Given the description of an element on the screen output the (x, y) to click on. 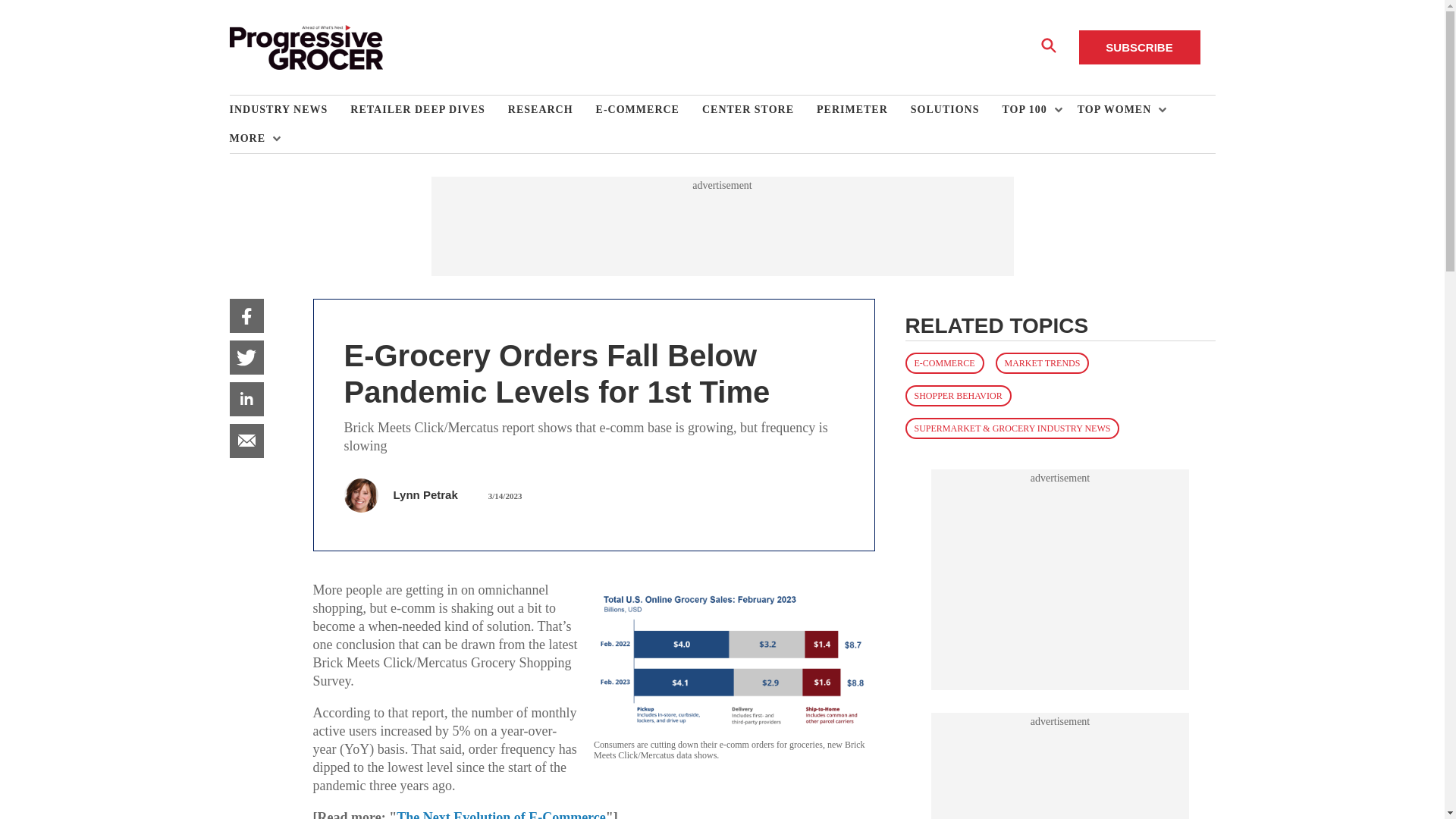
SUBSCRIBE (1138, 47)
RETAILER DEEP DIVES (428, 109)
email (245, 440)
INDUSTRY NEWS (289, 109)
CENTER STORE (758, 109)
TOP 100 (1028, 109)
TOP WOMEN (1117, 109)
RESEARCH (551, 109)
3rd party ad content (1059, 579)
linkedIn (245, 399)
SOLUTIONS (957, 109)
3rd party ad content (721, 226)
facebook (245, 315)
E-COMMERCE (648, 109)
twitter (245, 357)
